Given the description of an element on the screen output the (x, y) to click on. 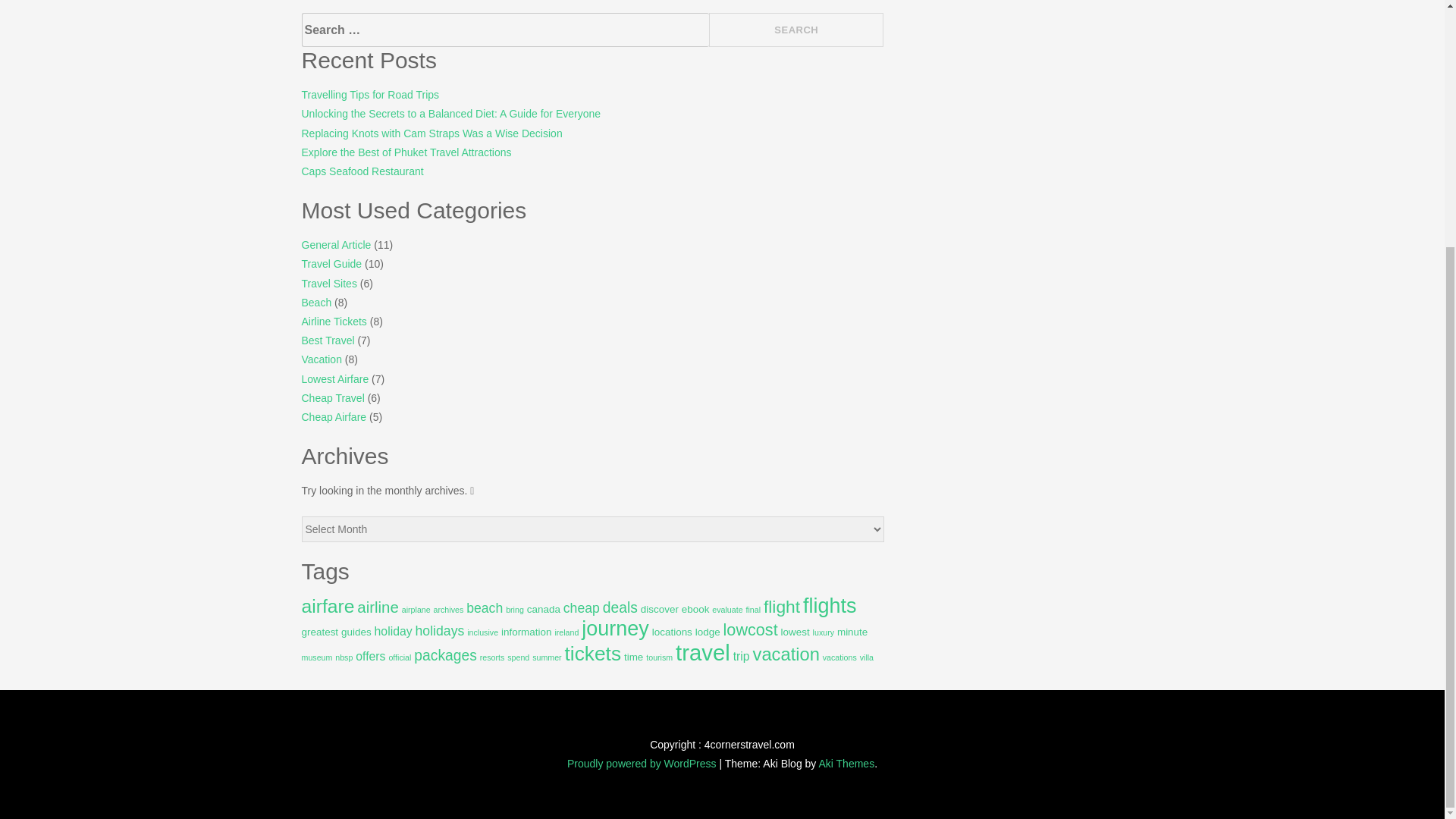
Caps Seafood Restaurant (362, 171)
Search (796, 29)
General Article (336, 244)
Travel Guide (331, 263)
Replacing Knots with Cam Straps Was a Wise Decision (431, 133)
Search (796, 29)
Search (796, 29)
Travelling Tips for Road Trips (370, 94)
Explore the Best of Phuket Travel Attractions (406, 152)
